Given the description of an element on the screen output the (x, y) to click on. 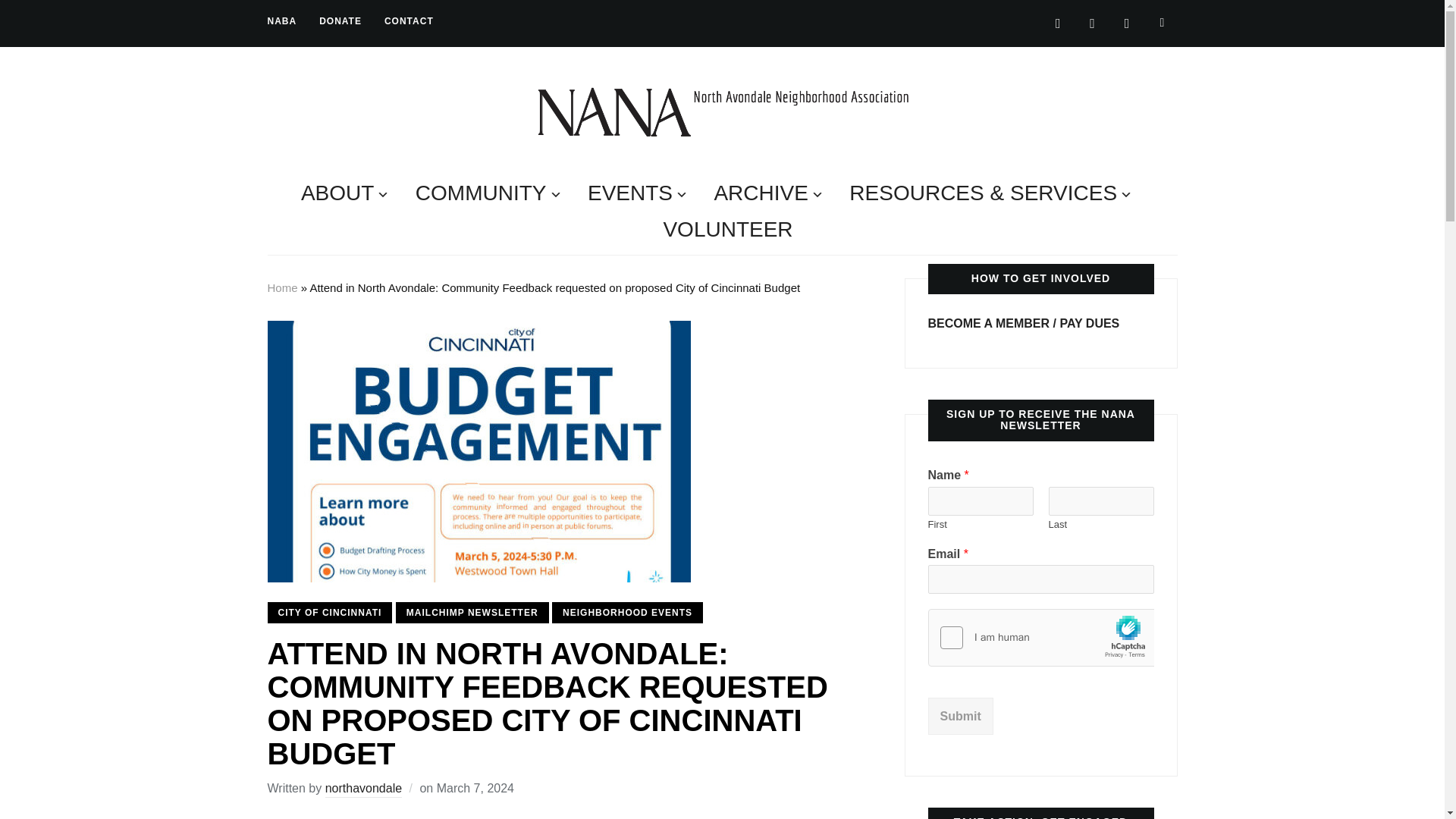
Search (1161, 22)
DONATE (339, 21)
CONTACT (408, 21)
Facebook (1127, 22)
NABA (281, 21)
Widget containing checkbox for hCaptcha security challenge (1041, 638)
Posts by northavondale (362, 789)
TWITTER (1058, 22)
Twitter (1058, 22)
FACEBOOK (1127, 22)
Instagram (1092, 22)
INSTAGRAM (1092, 22)
